Given the description of an element on the screen output the (x, y) to click on. 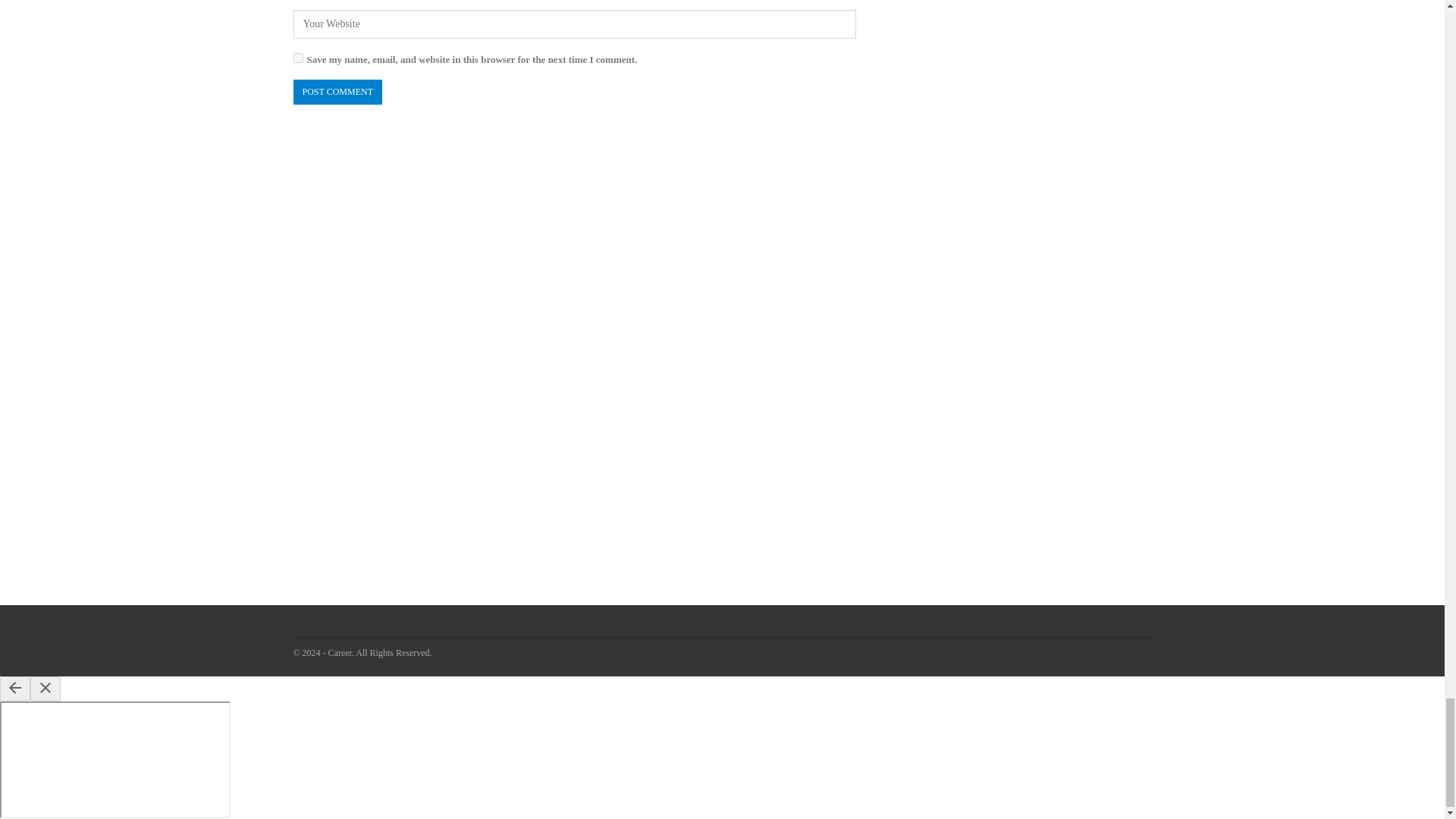
Post Comment (336, 91)
yes (297, 58)
